Given the description of an element on the screen output the (x, y) to click on. 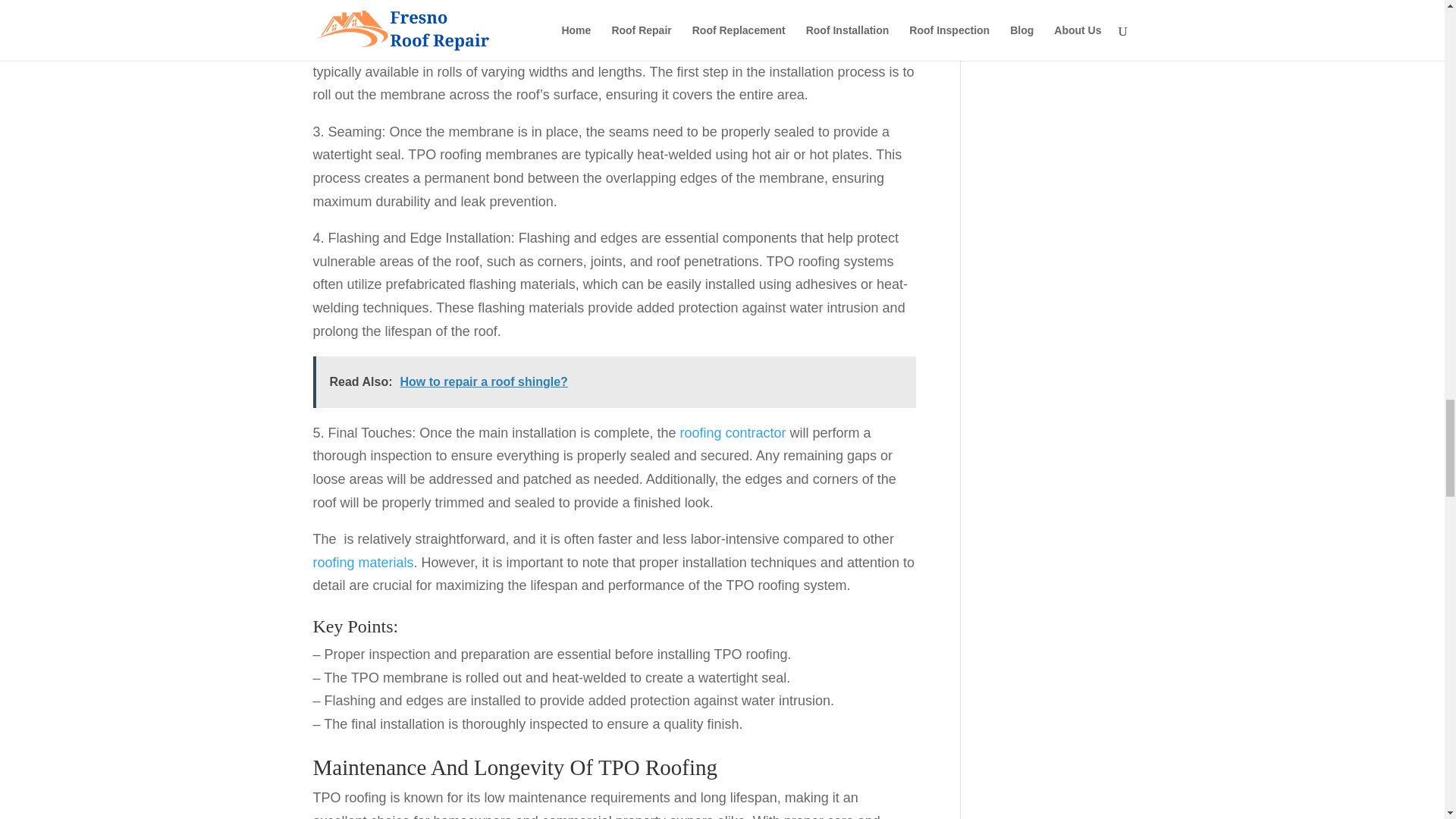
roofing contractor (732, 432)
roofing materials (363, 562)
Read Also:  How to repair a roof shingle? (614, 381)
